Given the description of an element on the screen output the (x, y) to click on. 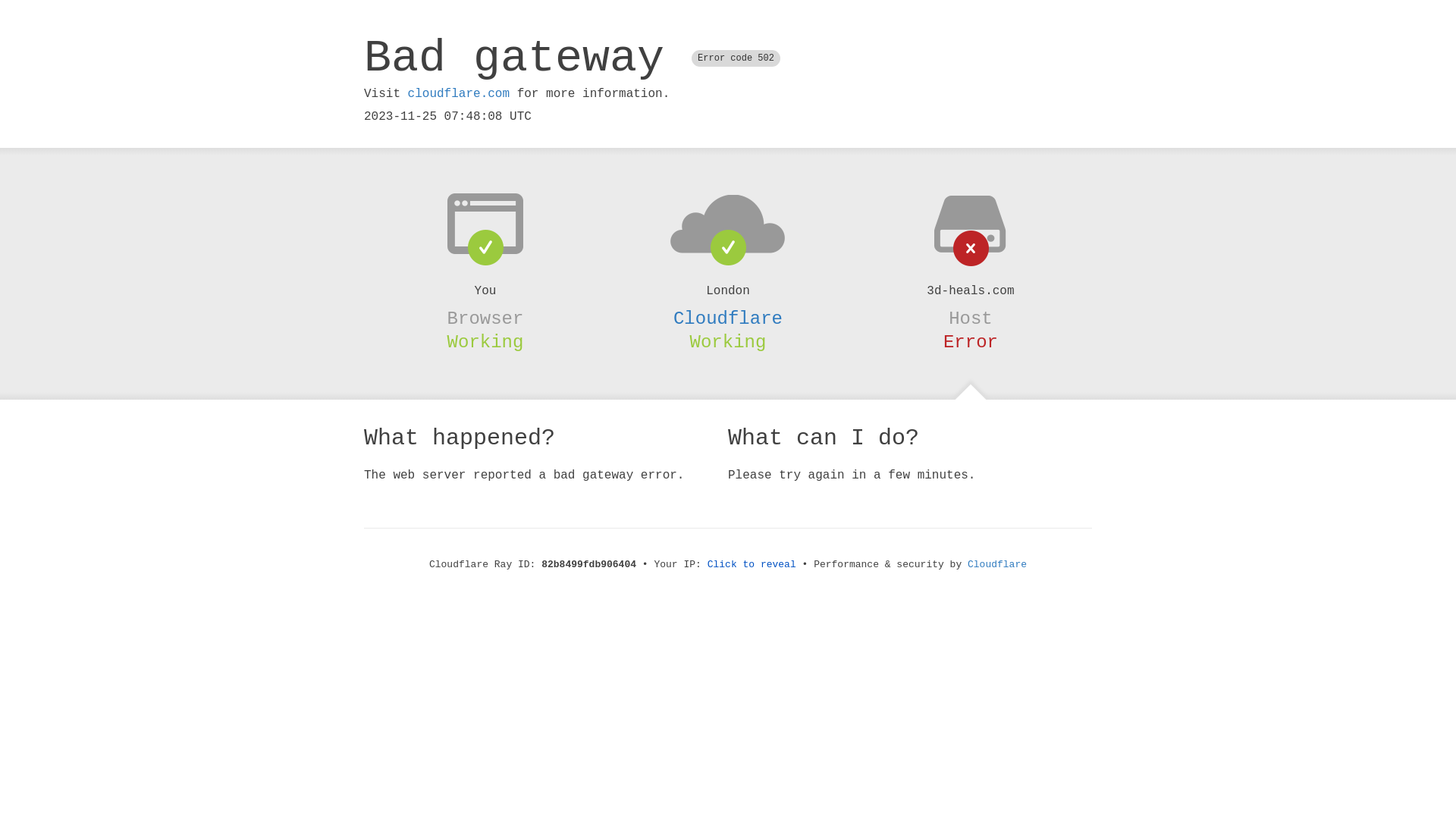
cloudflare.com Element type: text (458, 93)
Click to reveal Element type: text (751, 564)
Cloudflare Element type: text (727, 318)
Cloudflare Element type: text (996, 564)
